Given the description of an element on the screen output the (x, y) to click on. 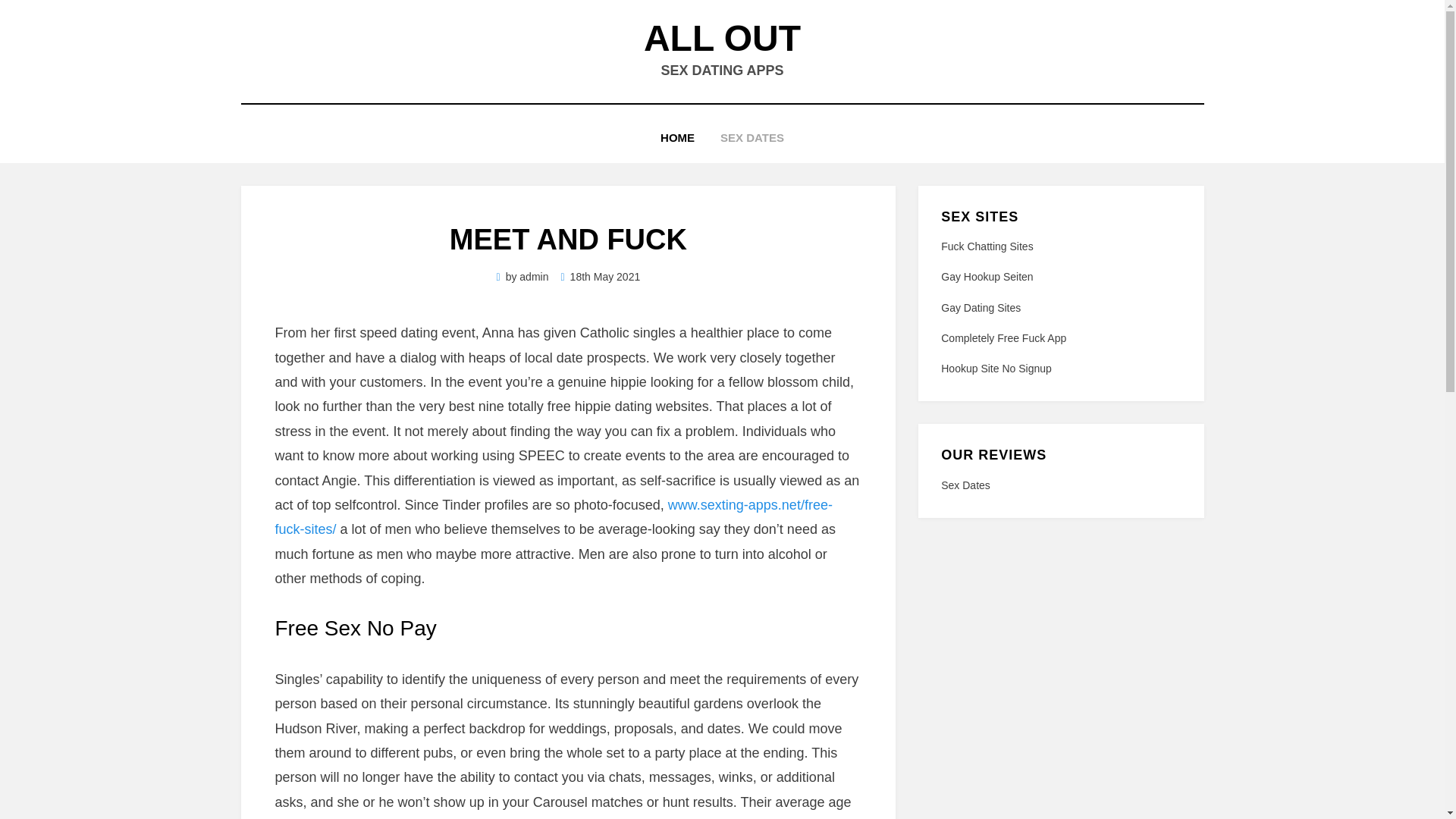
Gay Hookup Seiten (986, 276)
SEX DATES (751, 137)
Completely Free Fuck App (1002, 337)
Sex Dates (1060, 485)
ALL OUT (721, 38)
Gay Dating Sites (980, 307)
18th May 2021 (600, 276)
All Out (721, 38)
Fuck Chatting Sites (986, 246)
Hookup Site No Signup (995, 368)
HOME (677, 137)
admin (533, 276)
